Given the description of an element on the screen output the (x, y) to click on. 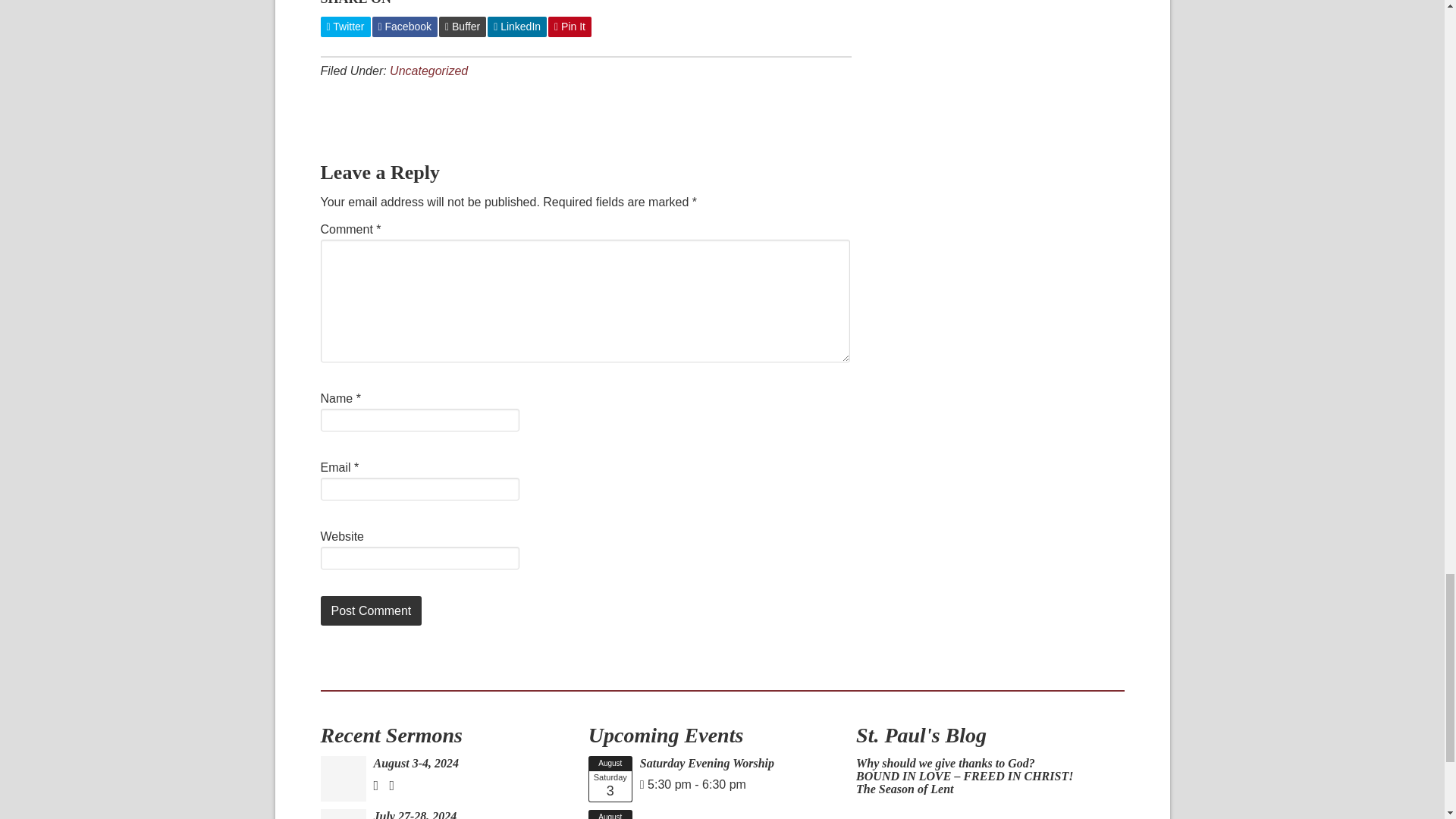
LinkedIn (517, 26)
Saturday Evening Worship (707, 762)
Saturday Evening Worship (609, 778)
Post Comment (371, 610)
July 27-28, 2024 (414, 814)
Facebook (404, 26)
Twitter (344, 26)
Post Comment (371, 610)
Pin It (569, 26)
Uncategorized (428, 69)
Buffer (462, 26)
August 3-4, 2024 (415, 762)
